Given the description of an element on the screen output the (x, y) to click on. 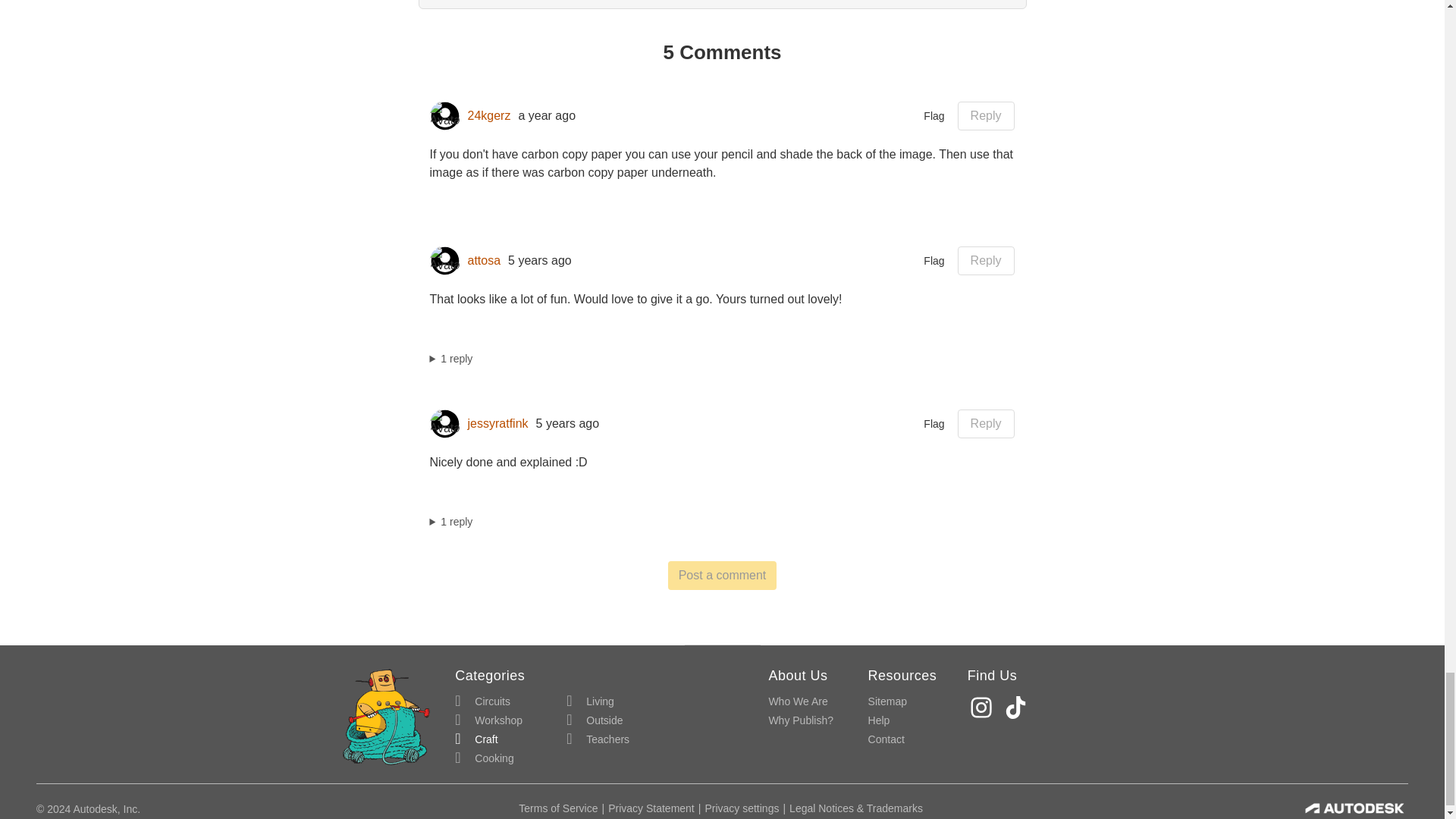
Instagram (983, 707)
2019-11-09 19:16:14.0 (540, 260)
TikTok (1018, 707)
2023-02-08 07:13:55.0 (546, 115)
2019-09-17 07:31:32.0 (567, 423)
